Given the description of an element on the screen output the (x, y) to click on. 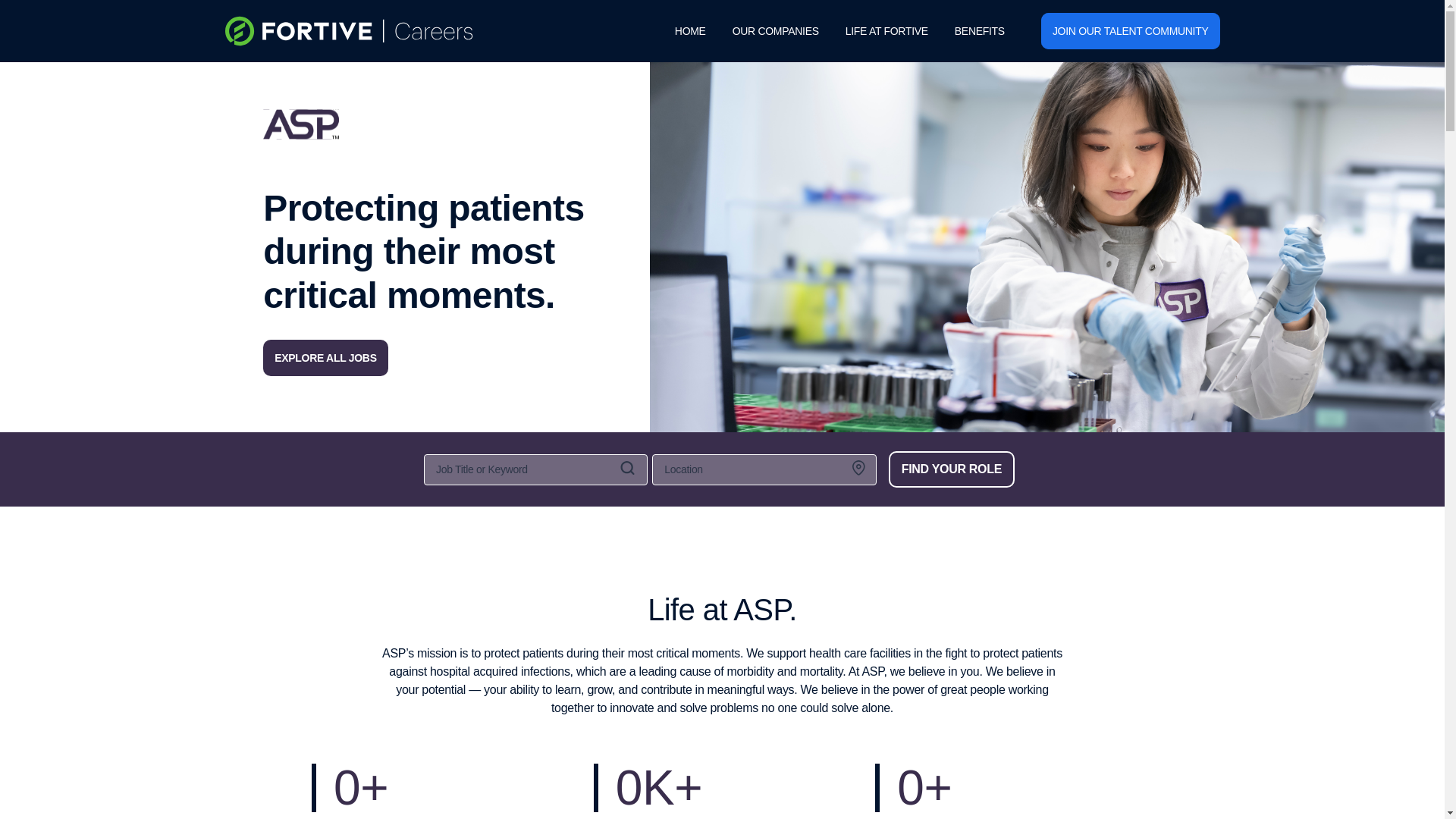
FIND YOUR ROLE (951, 469)
EXPLORE ALL JOBS (325, 357)
BENEFITS (979, 30)
OUR COMPANIES (775, 30)
LIFE AT FORTIVE (887, 30)
HOME (690, 30)
JOIN OUR TALENT COMMUNITY (1130, 31)
